Given the description of an element on the screen output the (x, y) to click on. 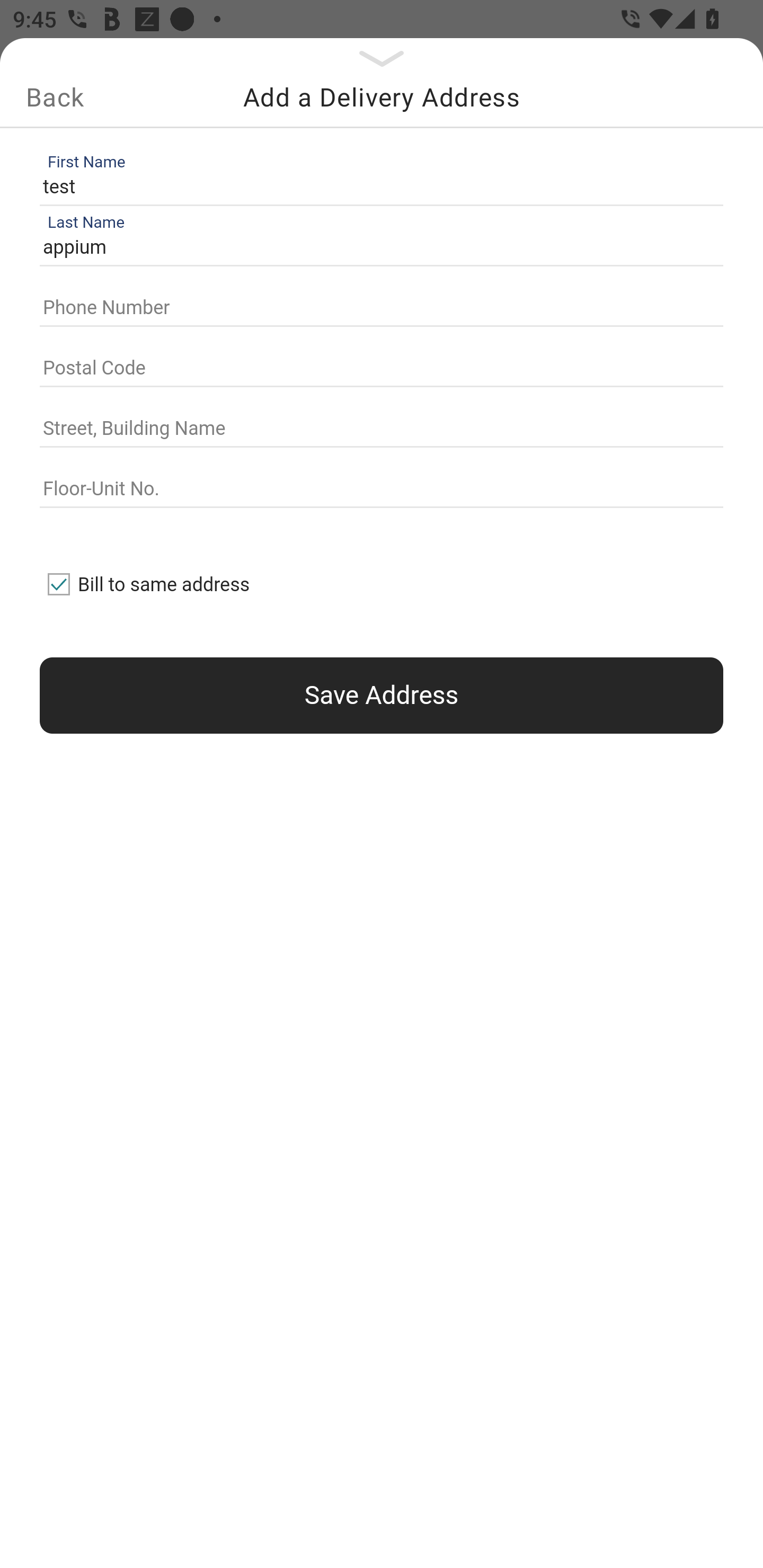
Back (54, 96)
Add a Delivery Address (381, 96)
test (377, 186)
appium (377, 247)
Save Address (381, 694)
